Given the description of an element on the screen output the (x, y) to click on. 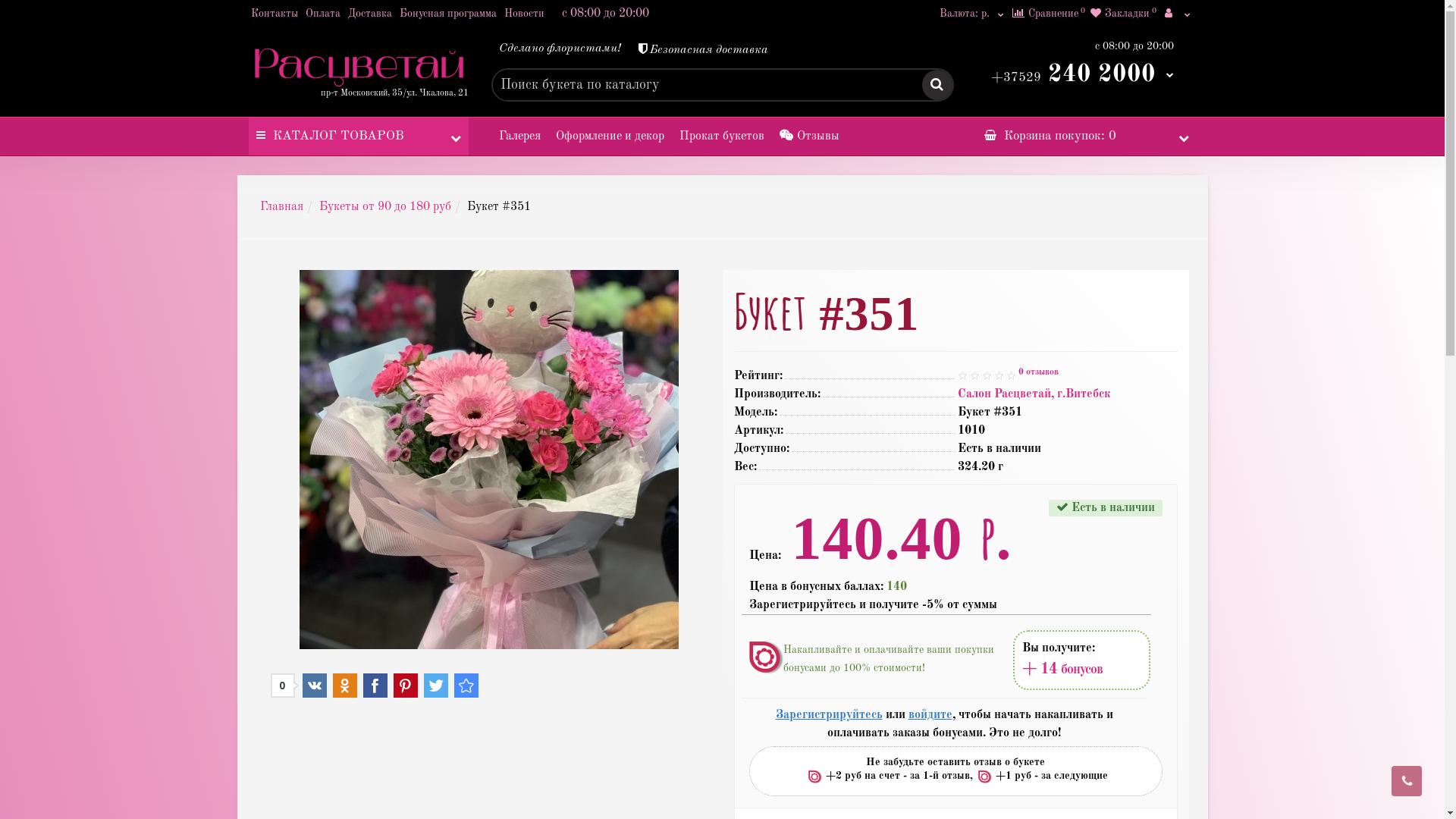
+37529 240 2000 Element type: text (1081, 74)
